Given the description of an element on the screen output the (x, y) to click on. 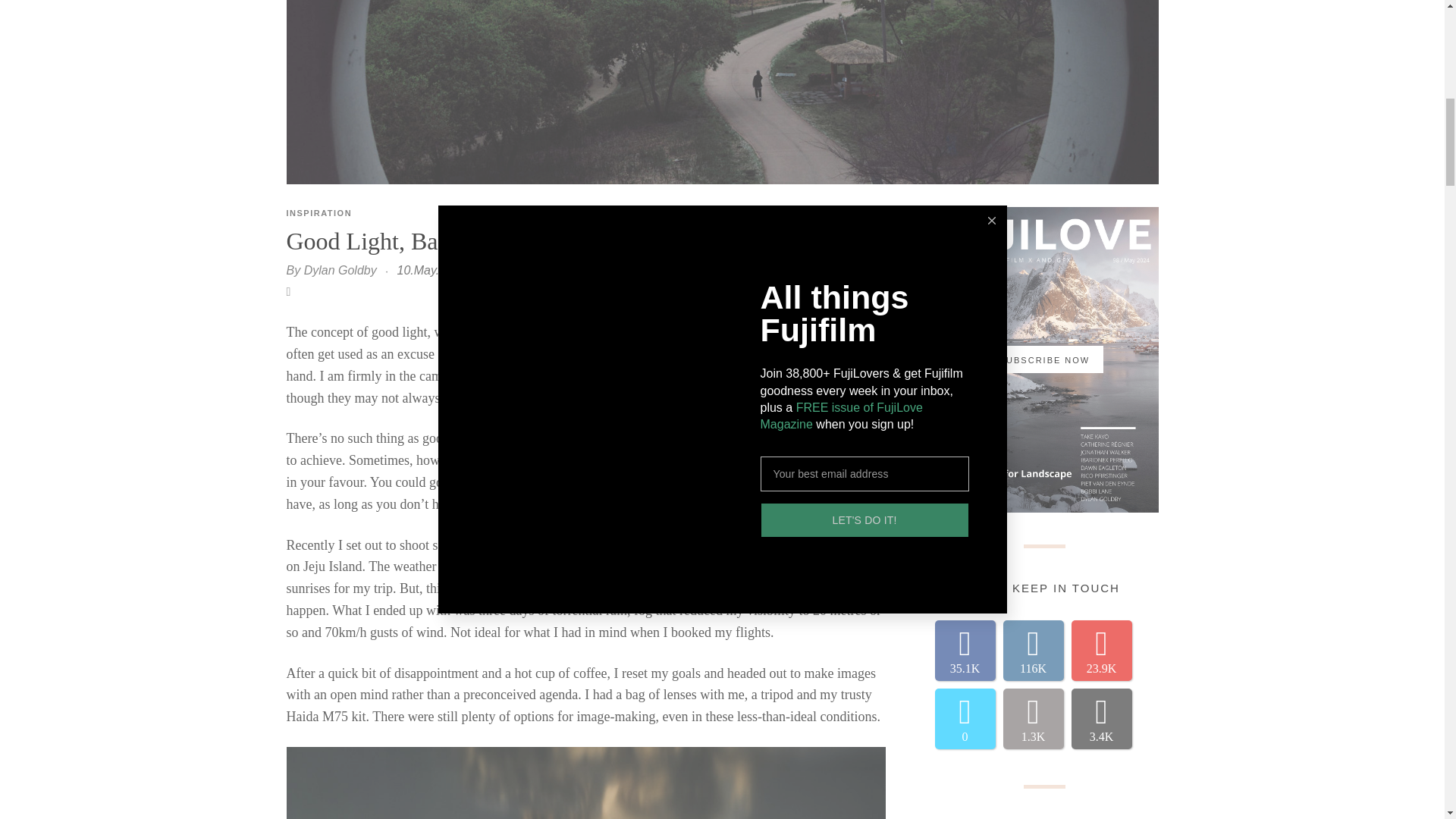
10.May.2023 (431, 269)
INSPIRATION (319, 212)
Dylan Goldby (340, 269)
Posts by Dylan Goldby (340, 269)
